Given the description of an element on the screen output the (x, y) to click on. 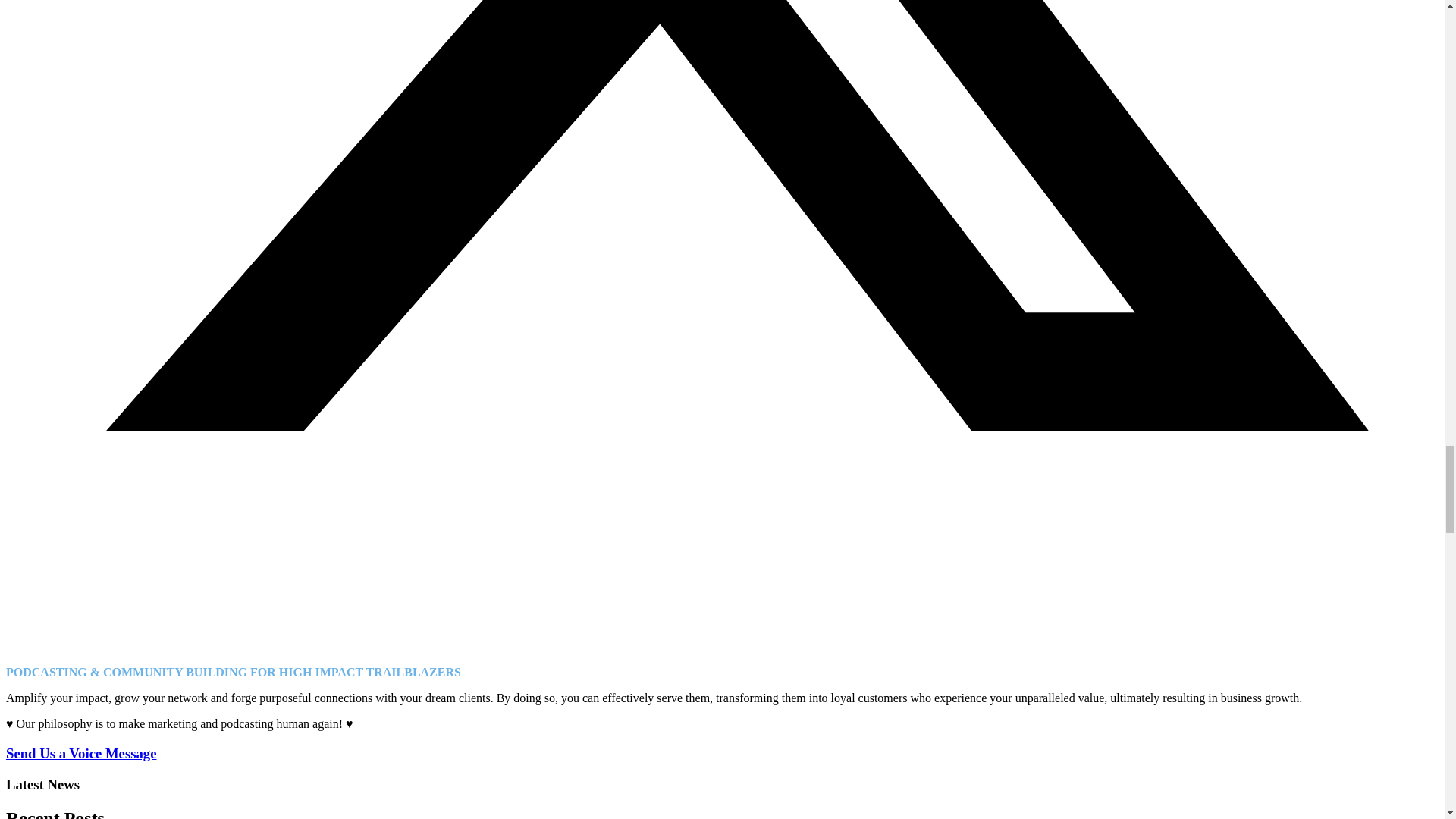
Send Us a Voice Message (80, 753)
